Given the description of an element on the screen output the (x, y) to click on. 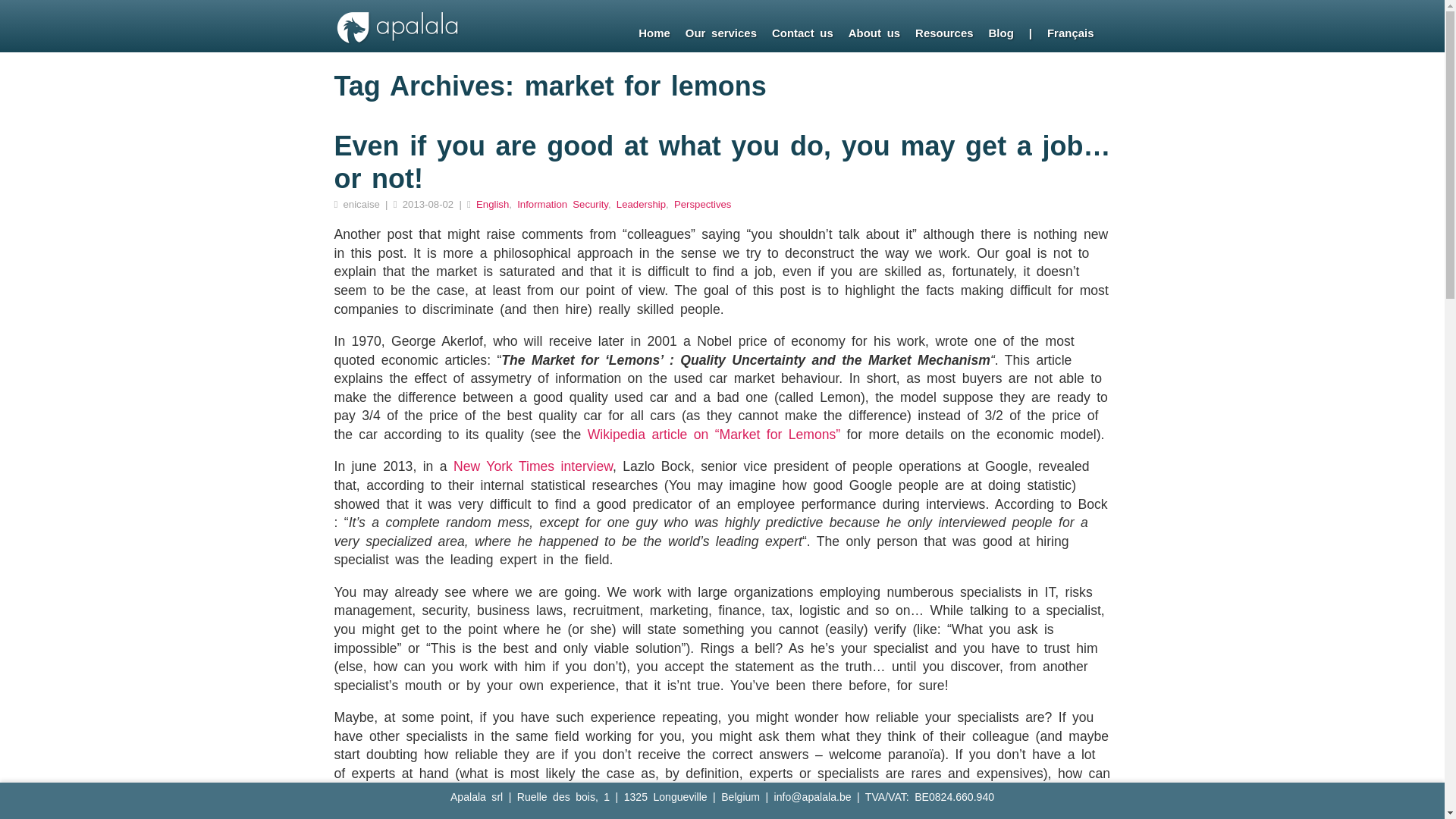
English (492, 204)
Blog (1001, 33)
Perspectives (703, 204)
Apalala srl (396, 41)
Leadership (640, 204)
Contact us (802, 33)
About us (874, 33)
Posts by enicaise (361, 204)
enicaise (361, 204)
New York Times interview (532, 466)
